Given the description of an element on the screen output the (x, y) to click on. 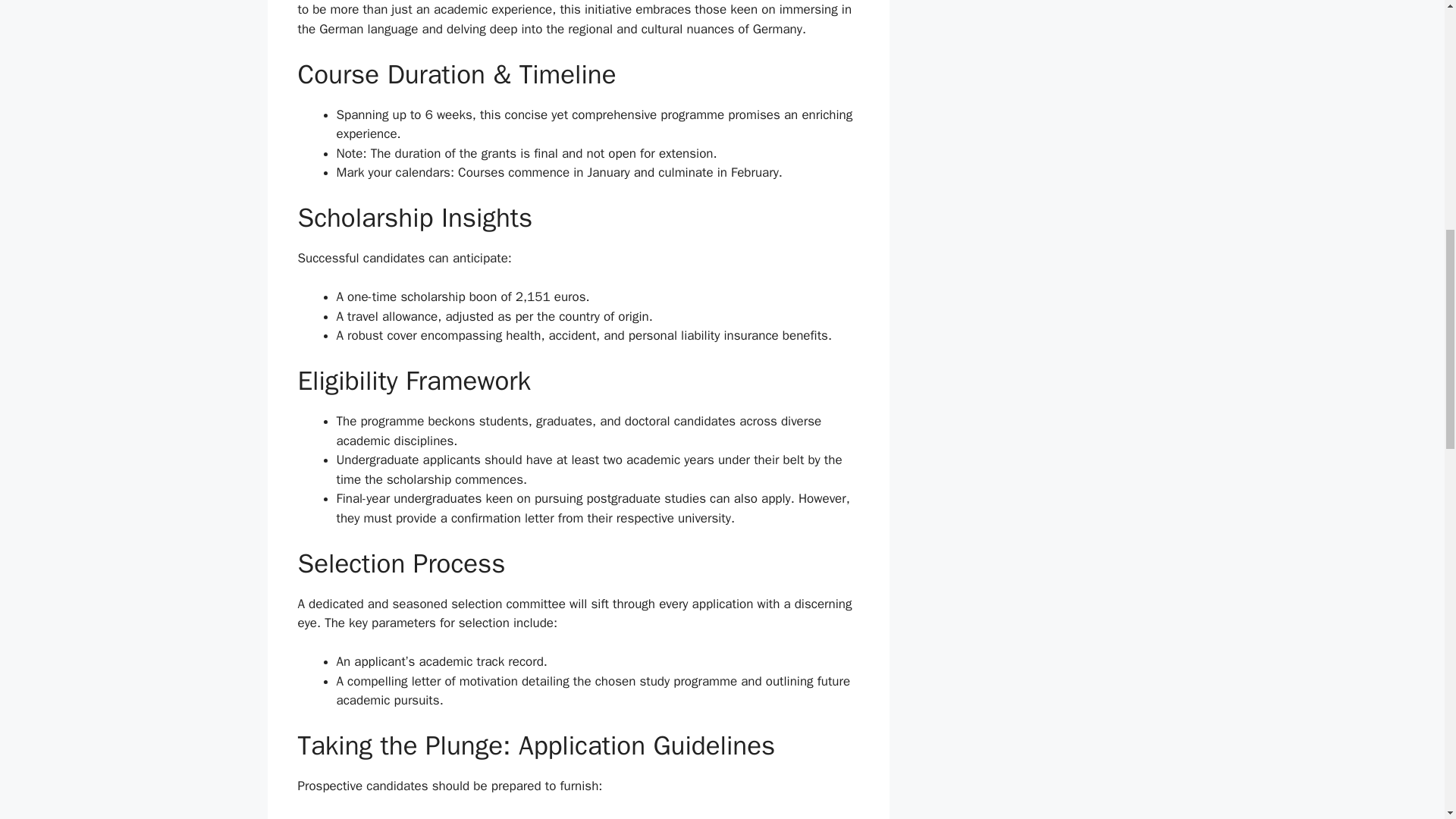
Scroll back to top (1406, 720)
